Given the description of an element on the screen output the (x, y) to click on. 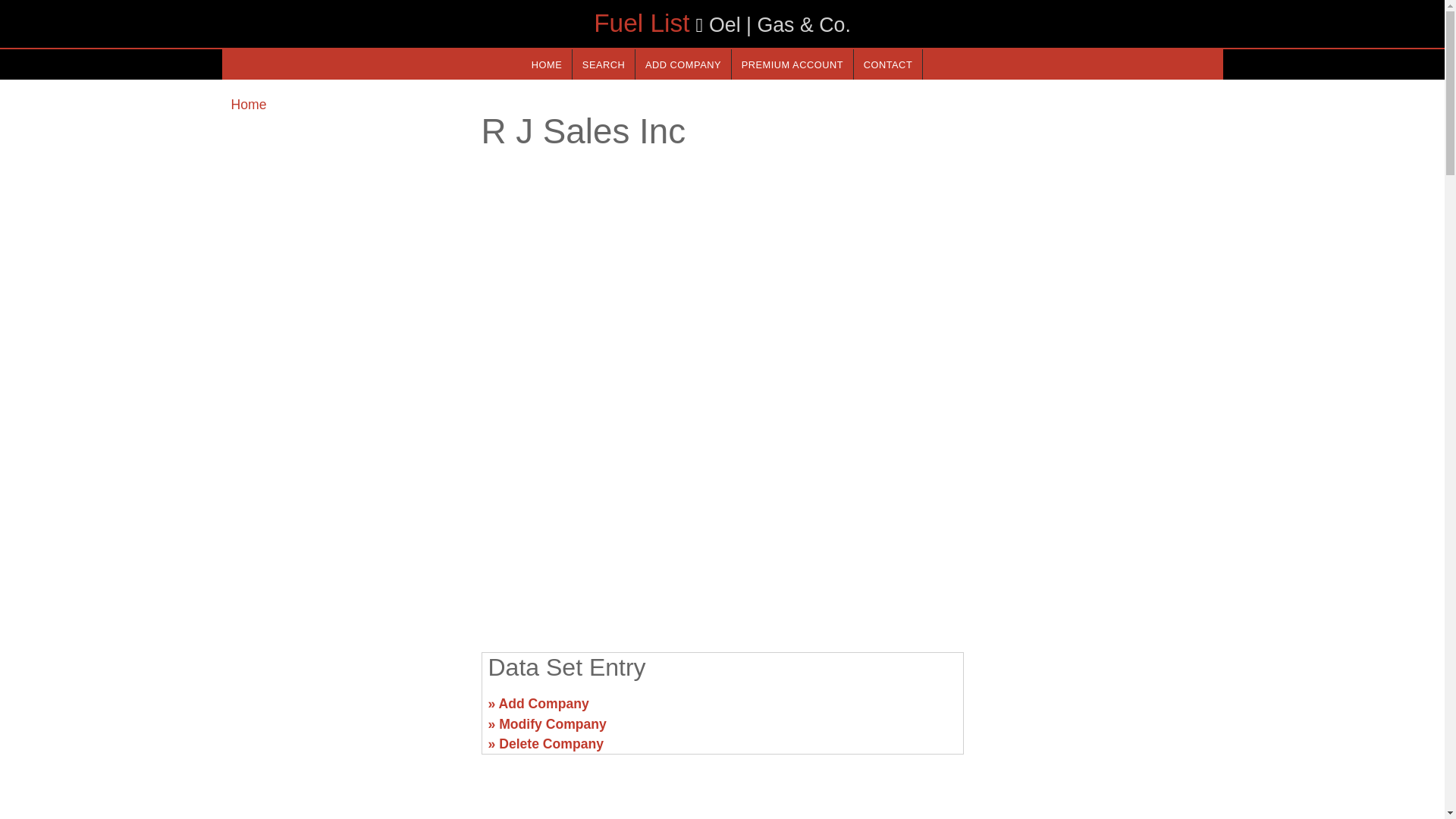
SEARCH (603, 64)
Advertisement (346, 710)
Premium account (792, 64)
Add a new company (682, 64)
Search in this webseite. (603, 64)
PREMIUM ACCOUNT (792, 64)
Advertisement (721, 522)
Home (248, 104)
HOME (546, 64)
